Given the description of an element on the screen output the (x, y) to click on. 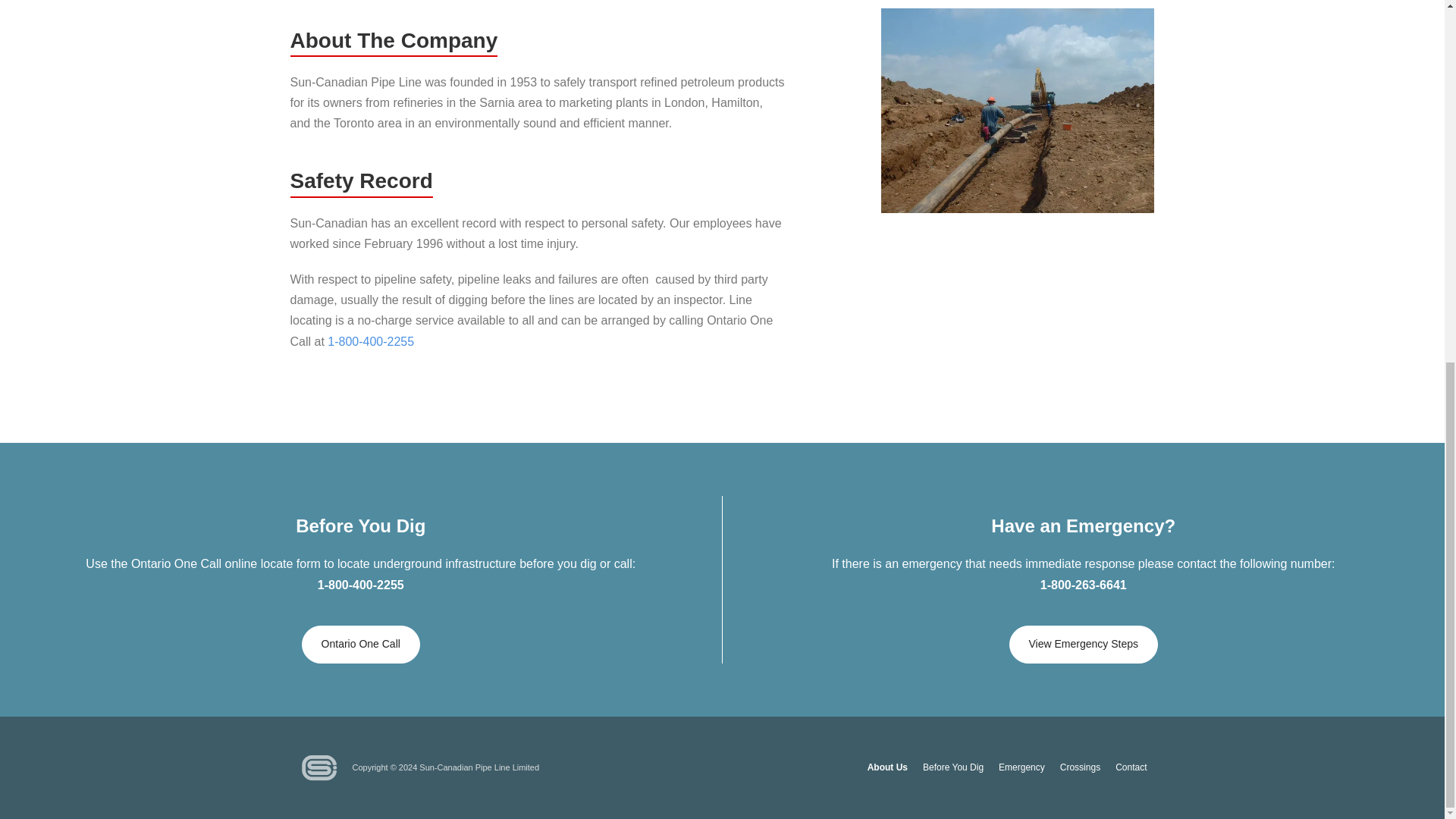
Crossings (1080, 767)
Contact (1131, 767)
1-800-400-2255 (360, 584)
View Emergency Steps (1083, 644)
Sun Canadian Pipeline Logo (319, 767)
Crossings (1080, 767)
Emergency (1021, 767)
Contact (1131, 767)
About Us (887, 767)
Before You Dig (953, 767)
1-800-400-2255 (370, 341)
About Us (887, 767)
Emergency (1021, 767)
Ontario One Call (360, 644)
1-800-263-6641 (1083, 584)
